Given the description of an element on the screen output the (x, y) to click on. 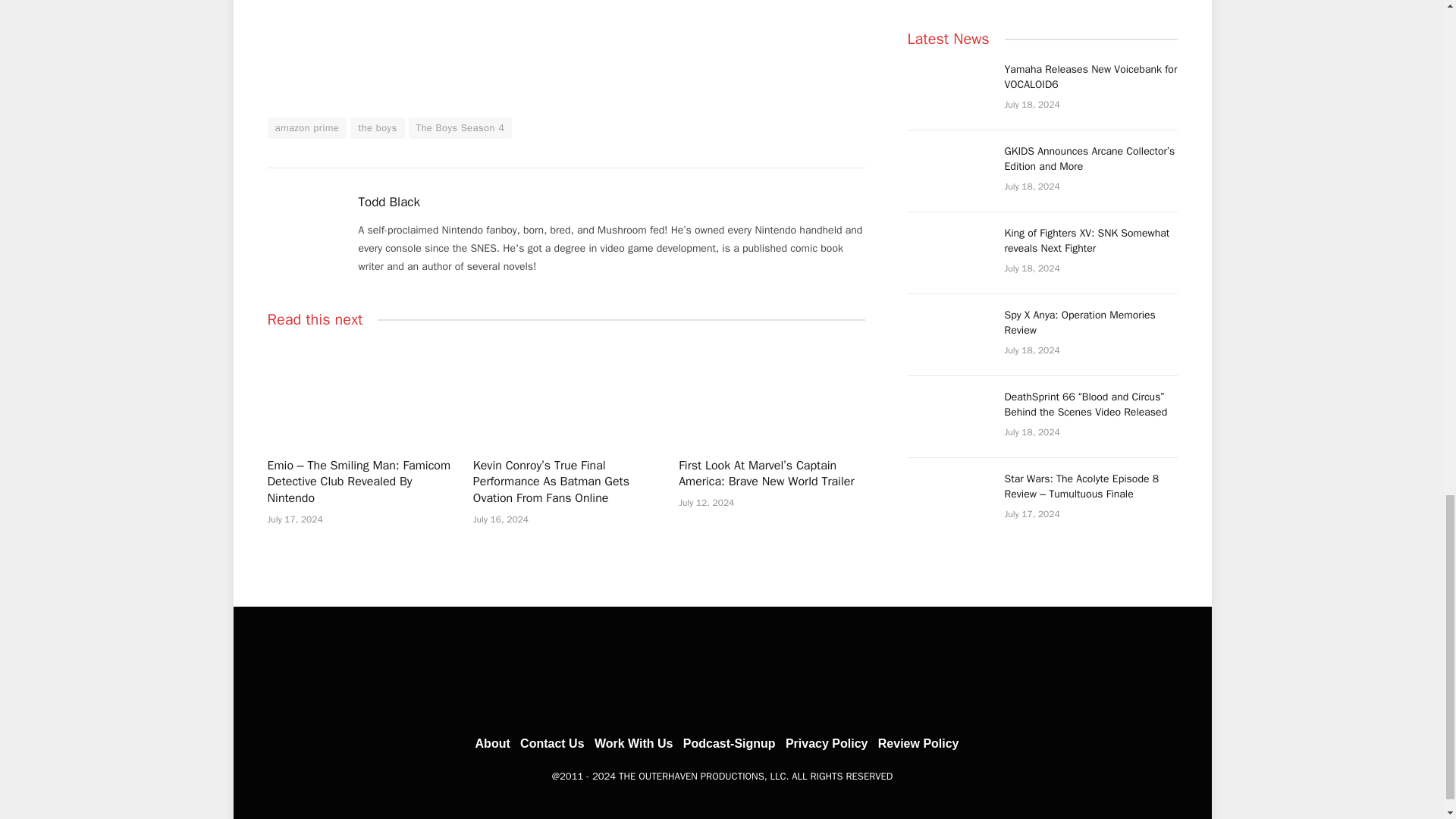
Posts by Todd Black (389, 201)
